Given the description of an element on the screen output the (x, y) to click on. 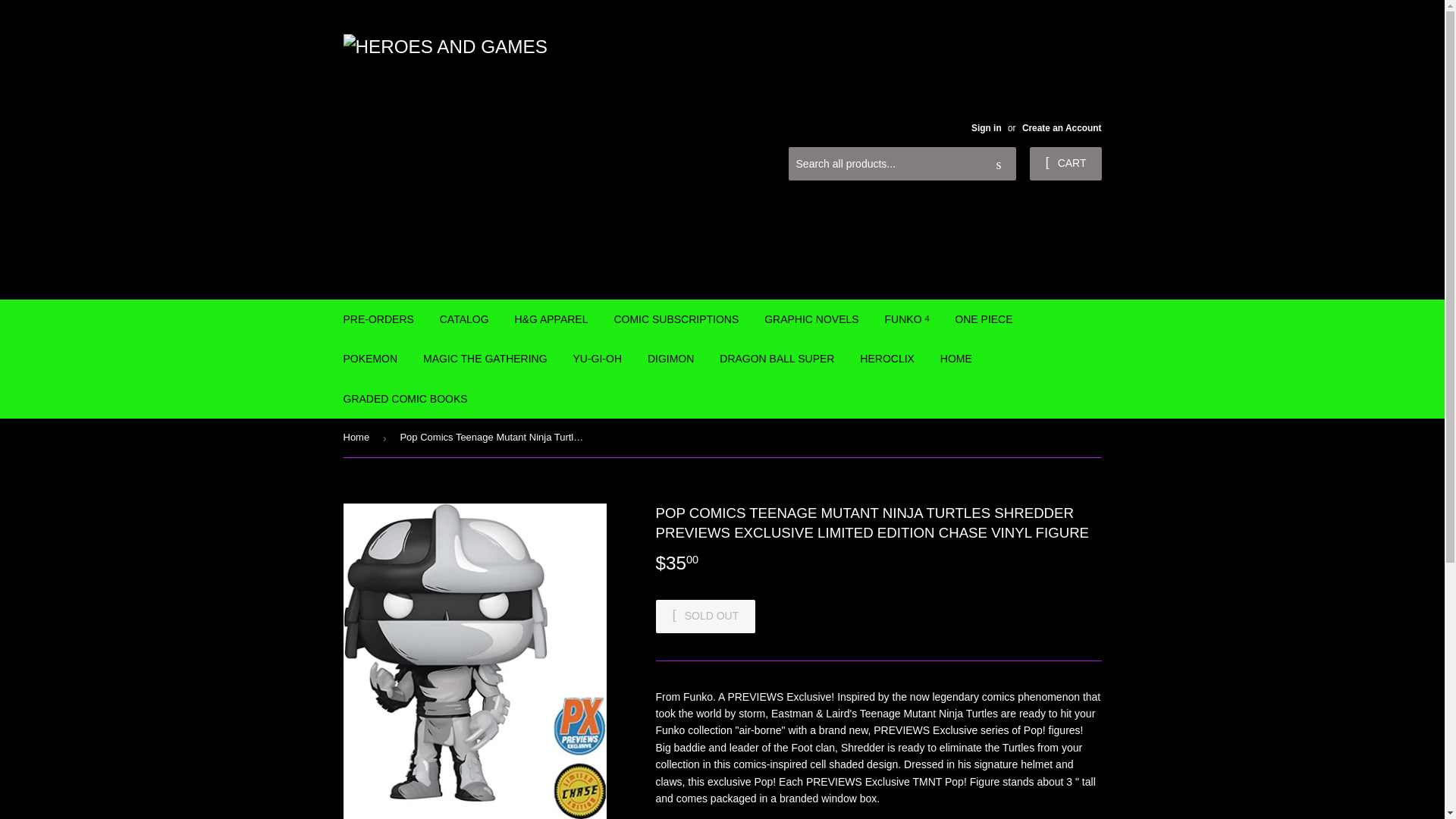
PRE-ORDERS (378, 319)
GRAPHIC NOVELS (810, 319)
FUNKO (906, 319)
CART (1064, 163)
ONE PIECE (983, 319)
MAGIC THE GATHERING (485, 358)
Search (998, 164)
YU-GI-OH (596, 358)
Create an Account (1062, 127)
Sign in (986, 127)
